Given the description of an element on the screen output the (x, y) to click on. 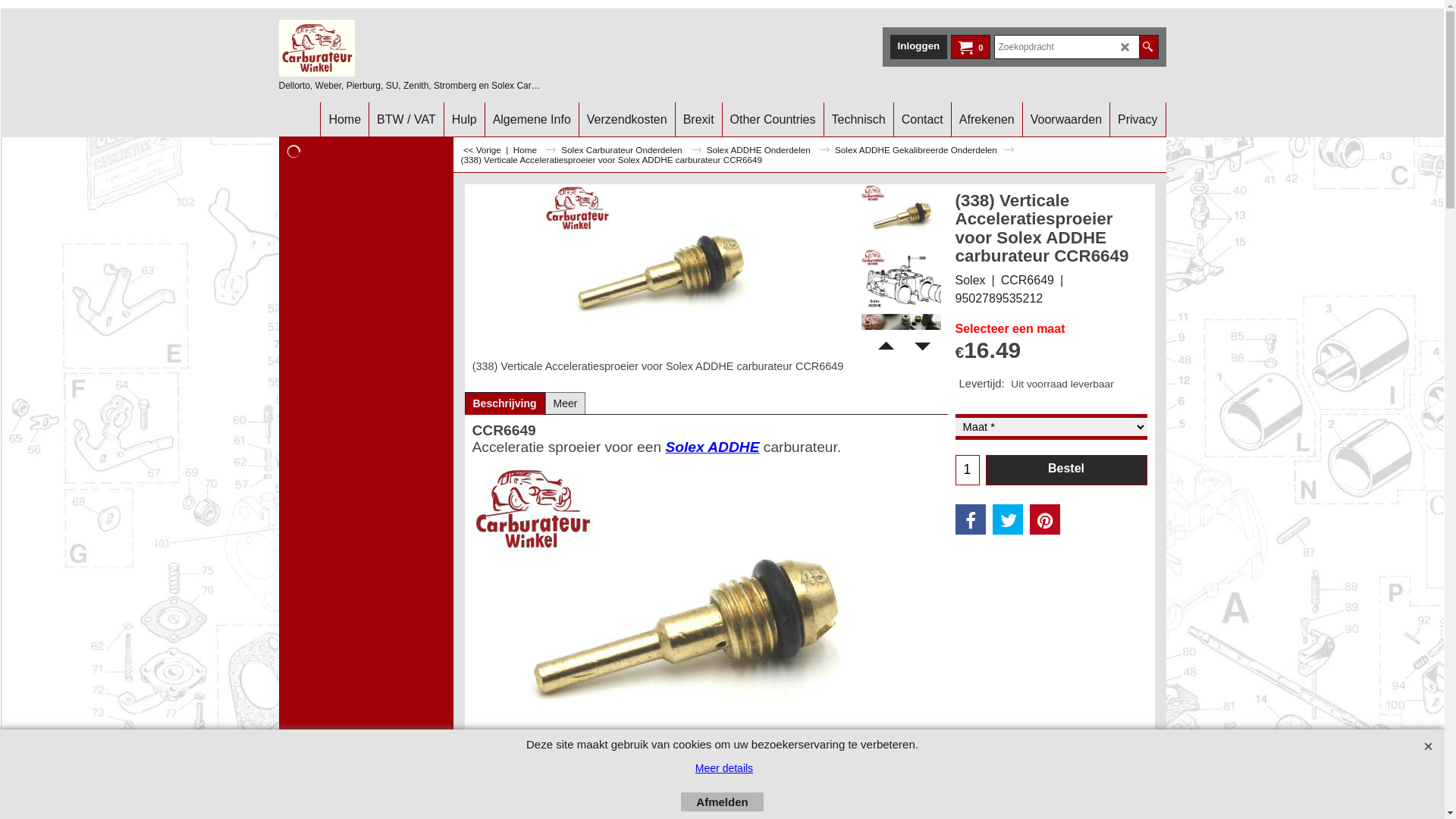
Beschrijving Element type: text (504, 403)
Contact Element type: text (922, 119)
Pinterest Element type: hover (1044, 519)
Bestel Element type: text (1065, 469)
Inloggen Element type: text (918, 45)
Solex ADDHE Onderdelen Element type: text (767, 149)
Zoeken Element type: hover (1148, 46)
Twitter Element type: hover (1007, 519)
Home Element type: text (534, 149)
Technisch Element type: text (858, 119)
Afrekenen Element type: text (986, 119)
Privacy Element type: text (1137, 119)
1 Element type: text (966, 469)
Meer Element type: text (565, 403)
Brexit Element type: text (698, 119)
Solex ADDHE Gekalibreerde Onderdelen Element type: text (923, 149)
Facebook Element type: hover (970, 519)
Solex ADDHE Element type: text (712, 447)
BTW / VAT Element type: text (406, 119)
Maat *
33
35
40
45
50
55
60
65
70 Element type: text (1051, 426)
Home Element type: text (344, 119)
Hulp Element type: text (464, 119)
Afmelden Element type: text (721, 801)
 << Vorige  Element type: text (482, 149)
LD_CANCEL Element type: hover (1124, 46)
Other Countries Element type: text (772, 119)
Verzendkosten Element type: text (626, 119)
Voorwaarden Element type: text (1065, 119)
Solex Carburateur Onderdelen Element type: text (630, 149)
Algemene Info Element type: text (531, 119)
Meer details Element type: text (724, 768)
